Given the description of an element on the screen output the (x, y) to click on. 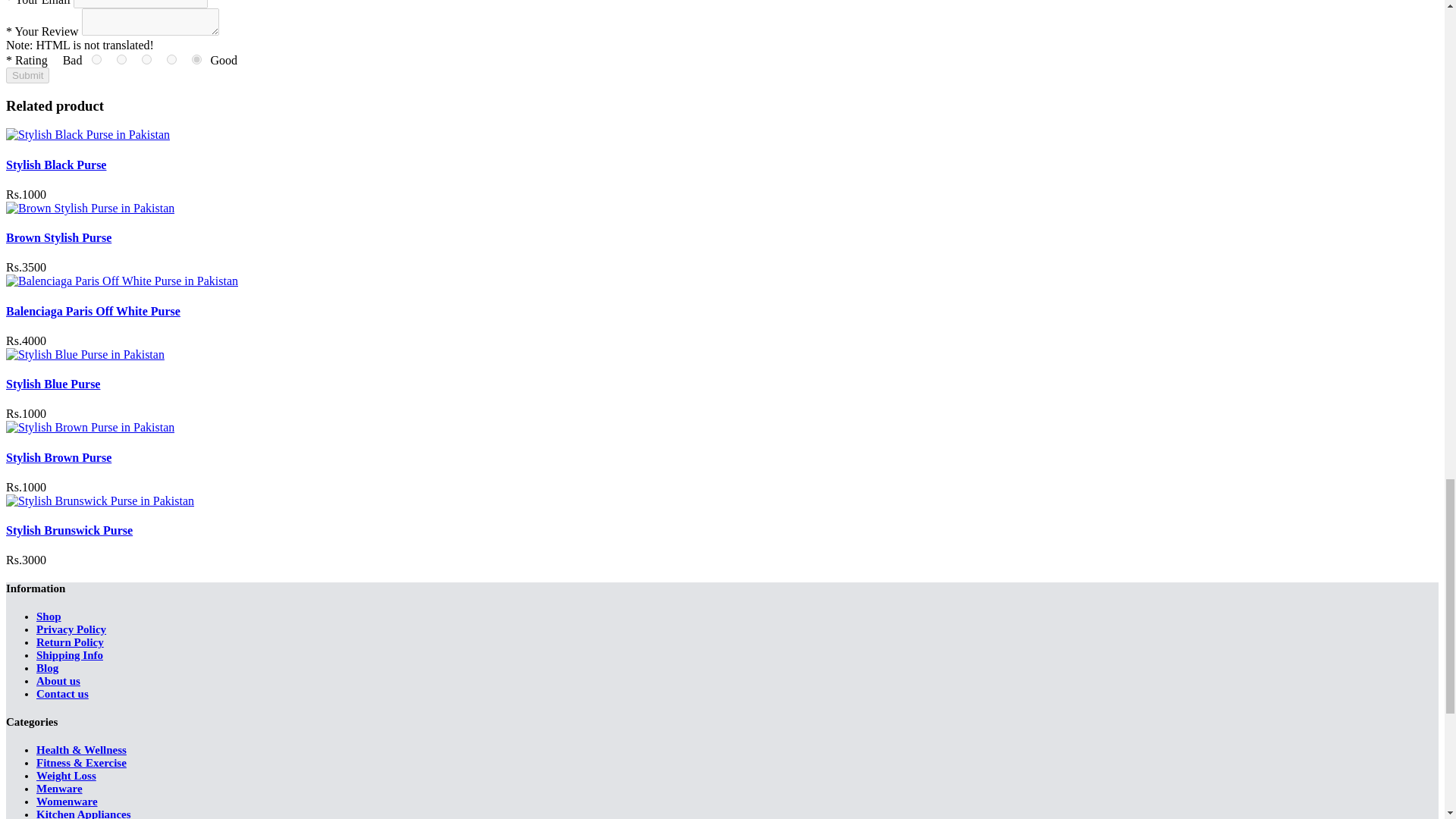
Stylish Black Purse (55, 164)
1 (96, 59)
3 (146, 59)
5 (197, 59)
Submit (27, 75)
2 (121, 59)
4 (171, 59)
